Given the description of an element on the screen output the (x, y) to click on. 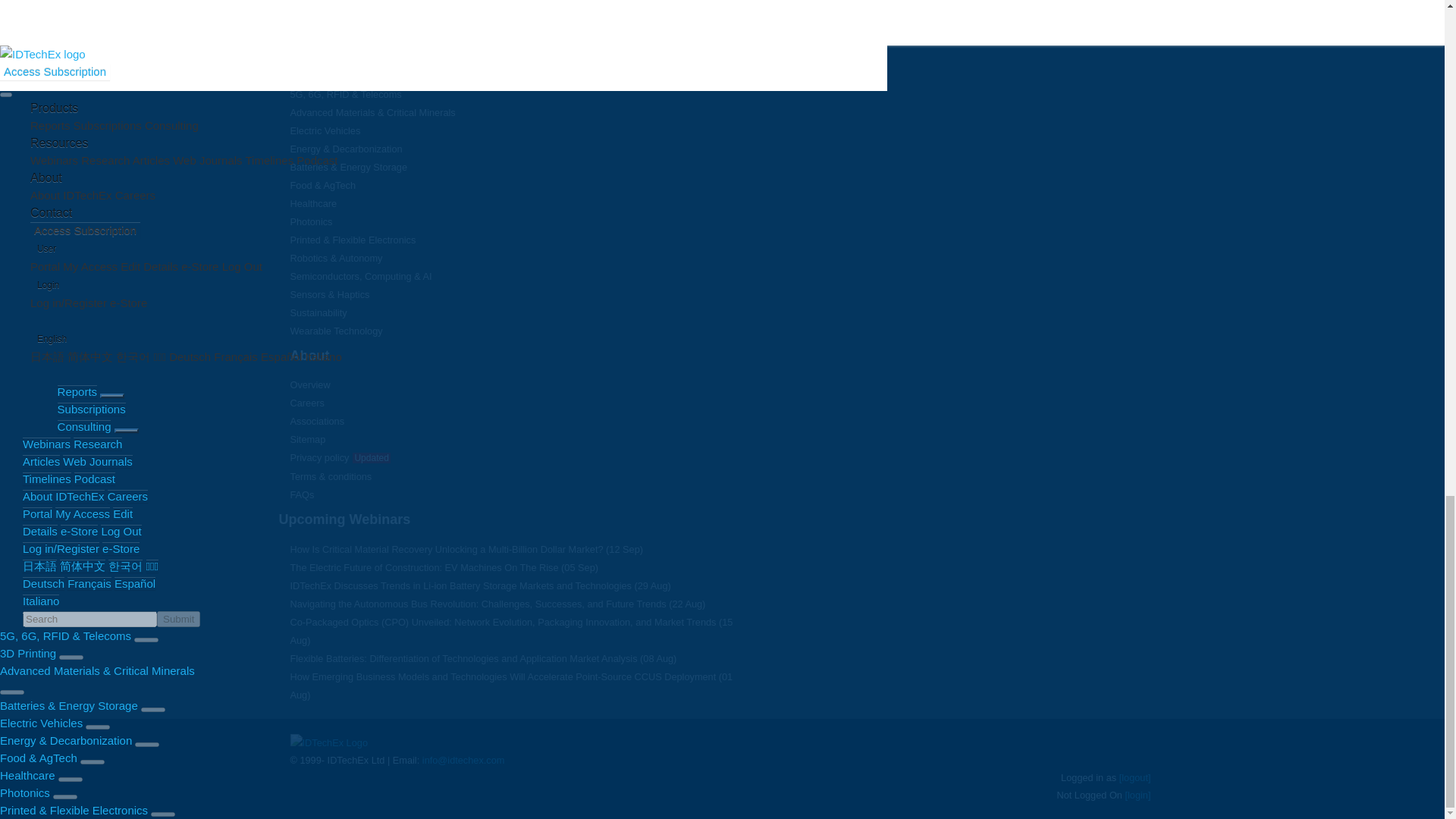
Timelines (309, 21)
IDTechEx TV (317, 4)
Electric Vehicles (324, 130)
Healthcare (312, 203)
3D Printing (313, 75)
Photonics (310, 221)
